Given the description of an element on the screen output the (x, y) to click on. 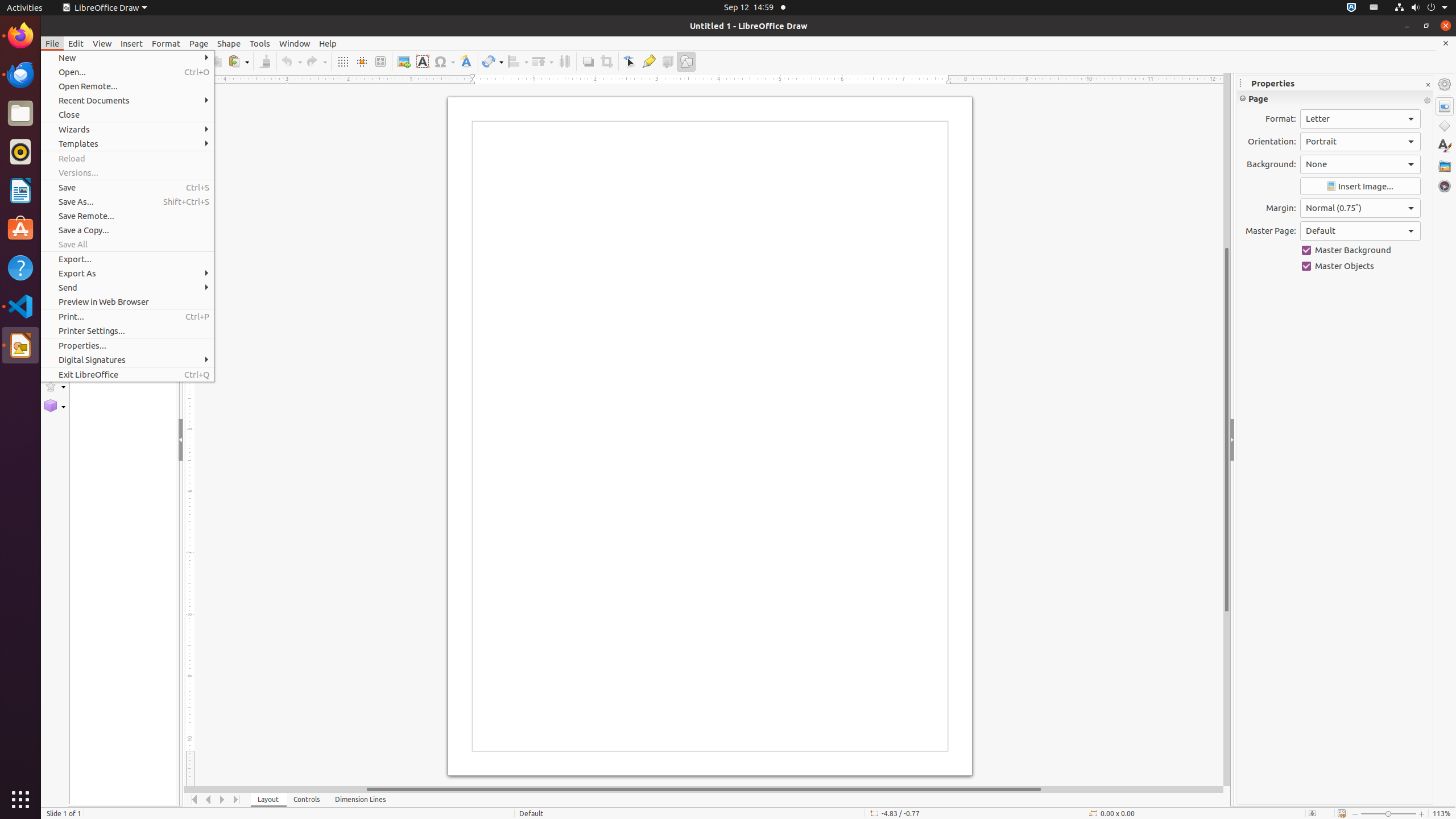
New Element type: menu (127, 57)
:1.21/StatusNotifierItem Element type: menu (1373, 7)
Save Remote... Element type: menu-item (127, 215)
Text Box Element type: push-button (421, 61)
Export... Element type: menu-item (127, 258)
